Given the description of an element on the screen output the (x, y) to click on. 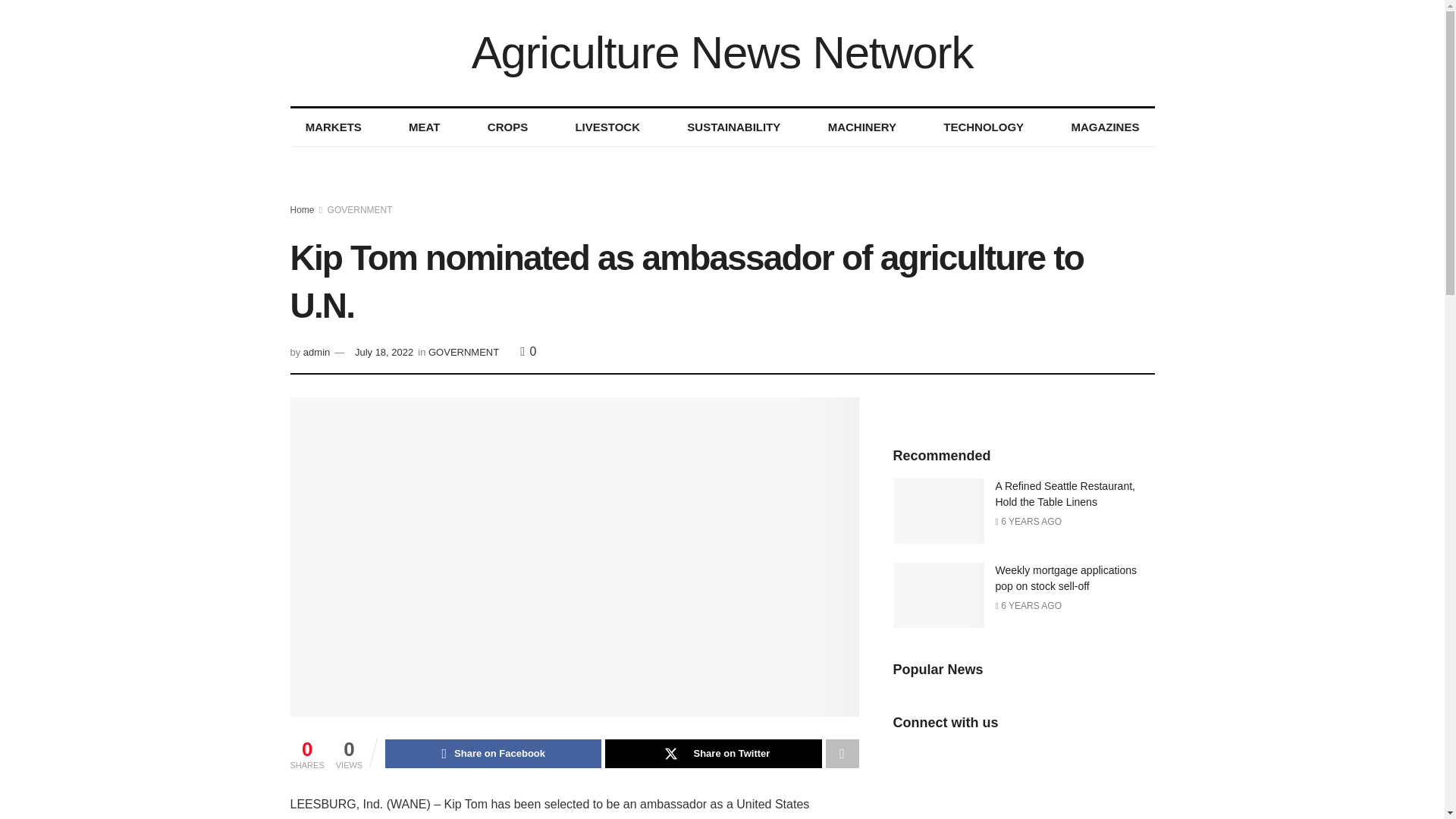
GOVERNMENT (463, 351)
MAGAZINES (1104, 127)
LIVESTOCK (607, 127)
Home (301, 209)
MARKETS (332, 127)
July 18, 2022 (384, 351)
MACHINERY (862, 127)
GOVERNMENT (360, 209)
CROPS (507, 127)
0 (527, 350)
